Given the description of an element on the screen output the (x, y) to click on. 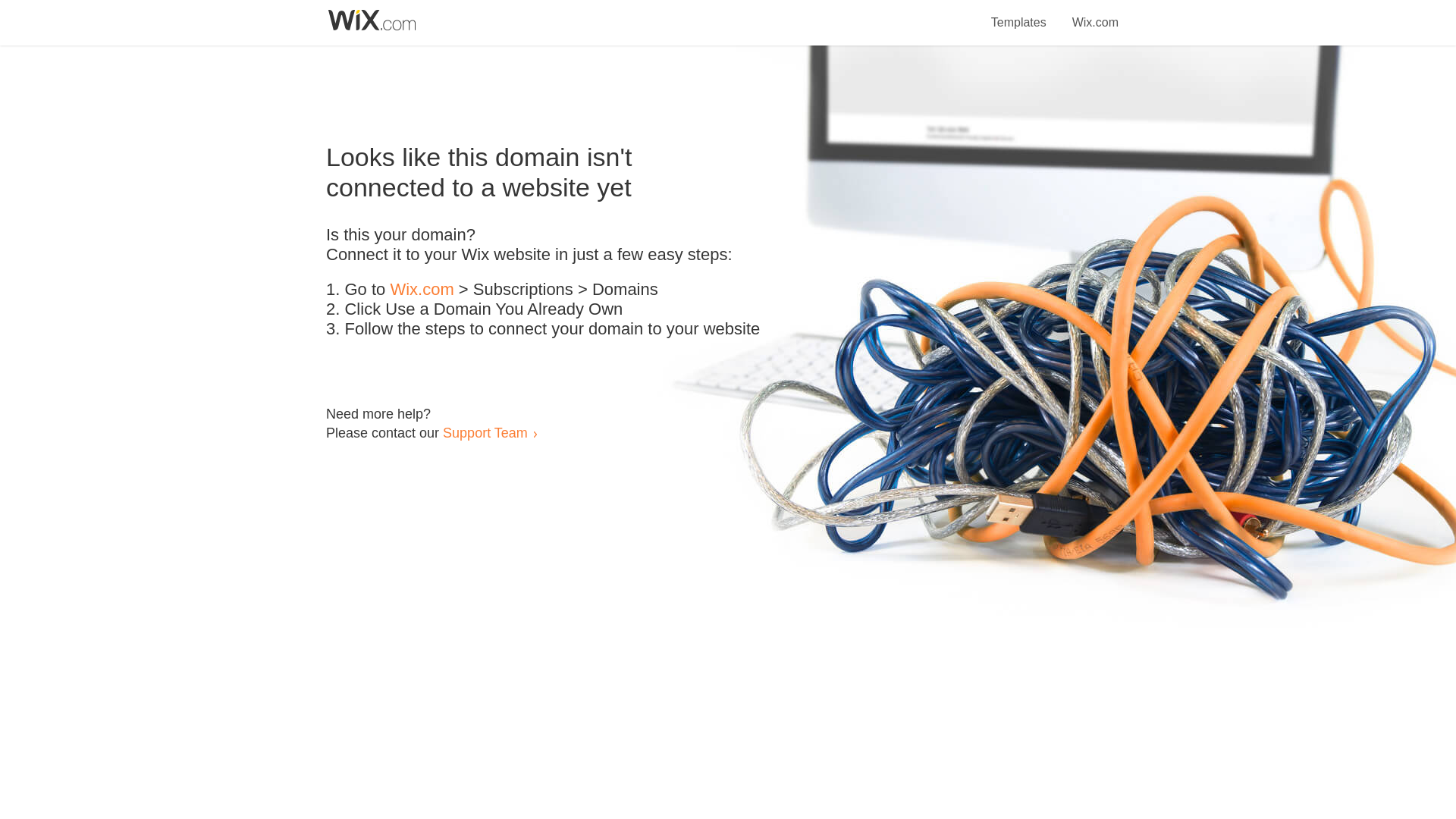
Support Team (484, 432)
Wix.com (1095, 14)
Wix.com (421, 289)
Templates (1018, 14)
